Given the description of an element on the screen output the (x, y) to click on. 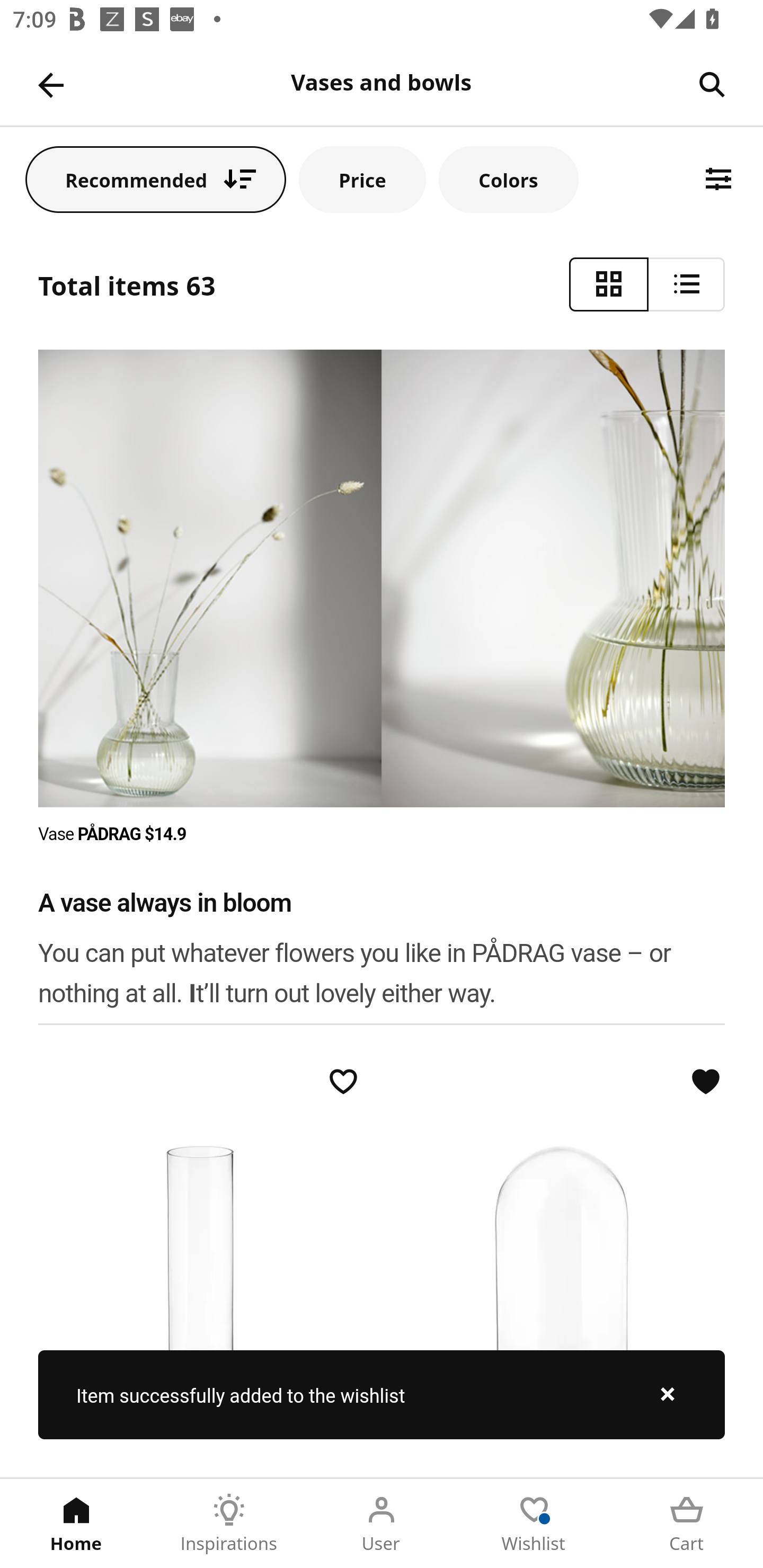
Recommended (155, 179)
Price (362, 179)
Colors (508, 179)
Vase PÅDRAG $14.9 (112, 834)
Item successfully added to the wishlist (381, 1394)
Home
Tab 1 of 5 (76, 1522)
Inspirations
Tab 2 of 5 (228, 1522)
User
Tab 3 of 5 (381, 1522)
Wishlist
Tab 4 of 5 (533, 1522)
Cart
Tab 5 of 5 (686, 1522)
